Given the description of an element on the screen output the (x, y) to click on. 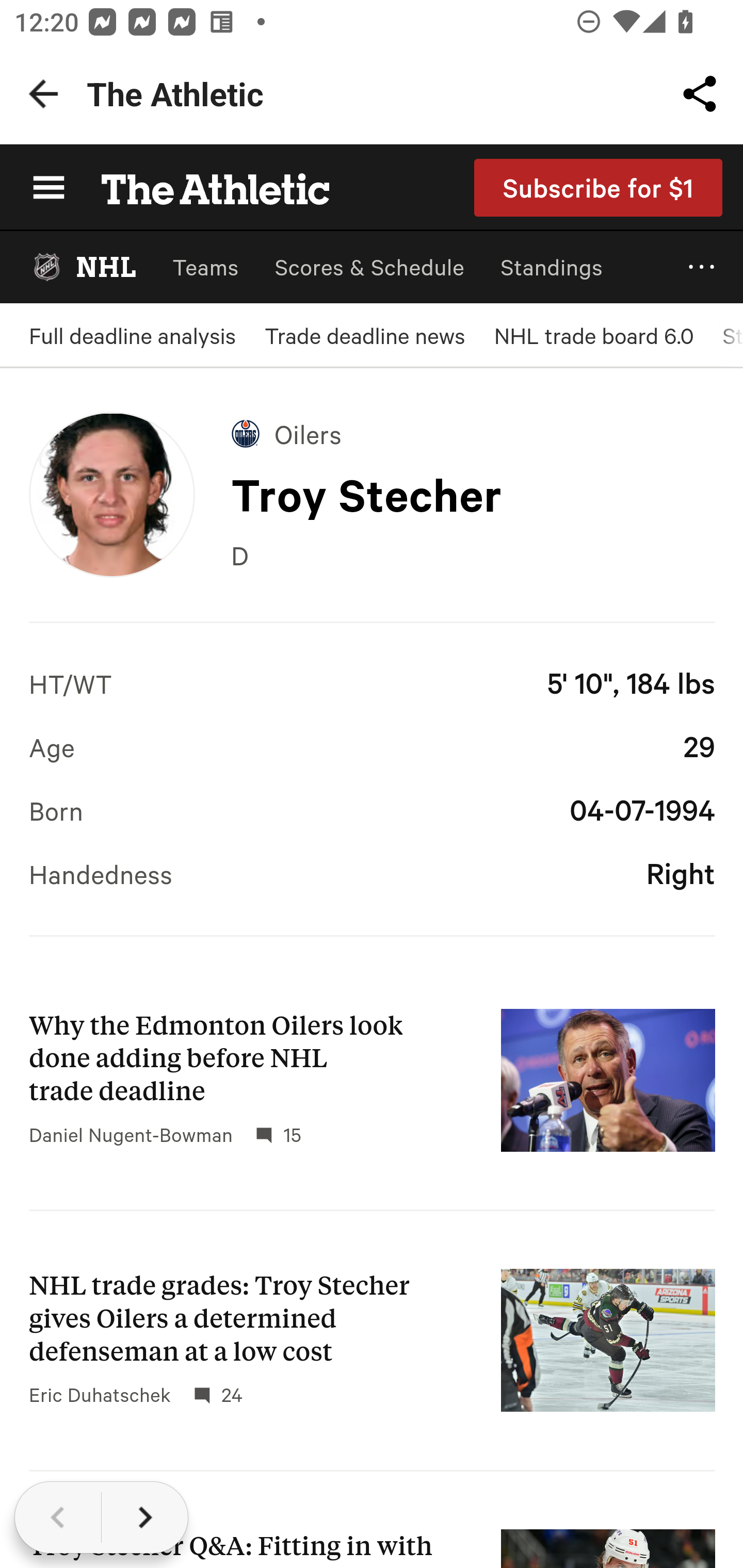
The Athletic (204, 187)
Subscribe for $1 (598, 187)
NHL NHL NHL NHL (82, 267)
Teams (205, 267)
Scores & Schedule (369, 267)
Standings (552, 267)
• • • (701, 267)
Full deadline analysis (132, 335)
Trade deadline news (364, 335)
NHL trade board 6.0 (593, 335)
T. Stecher (111, 494)
Oilers logo Oilers Oilers logo Oilers (287, 433)
Live News (371, 663)
Premier League (371, 743)
Champions League (371, 821)
Euro 2024 (371, 901)
